Given the description of an element on the screen output the (x, y) to click on. 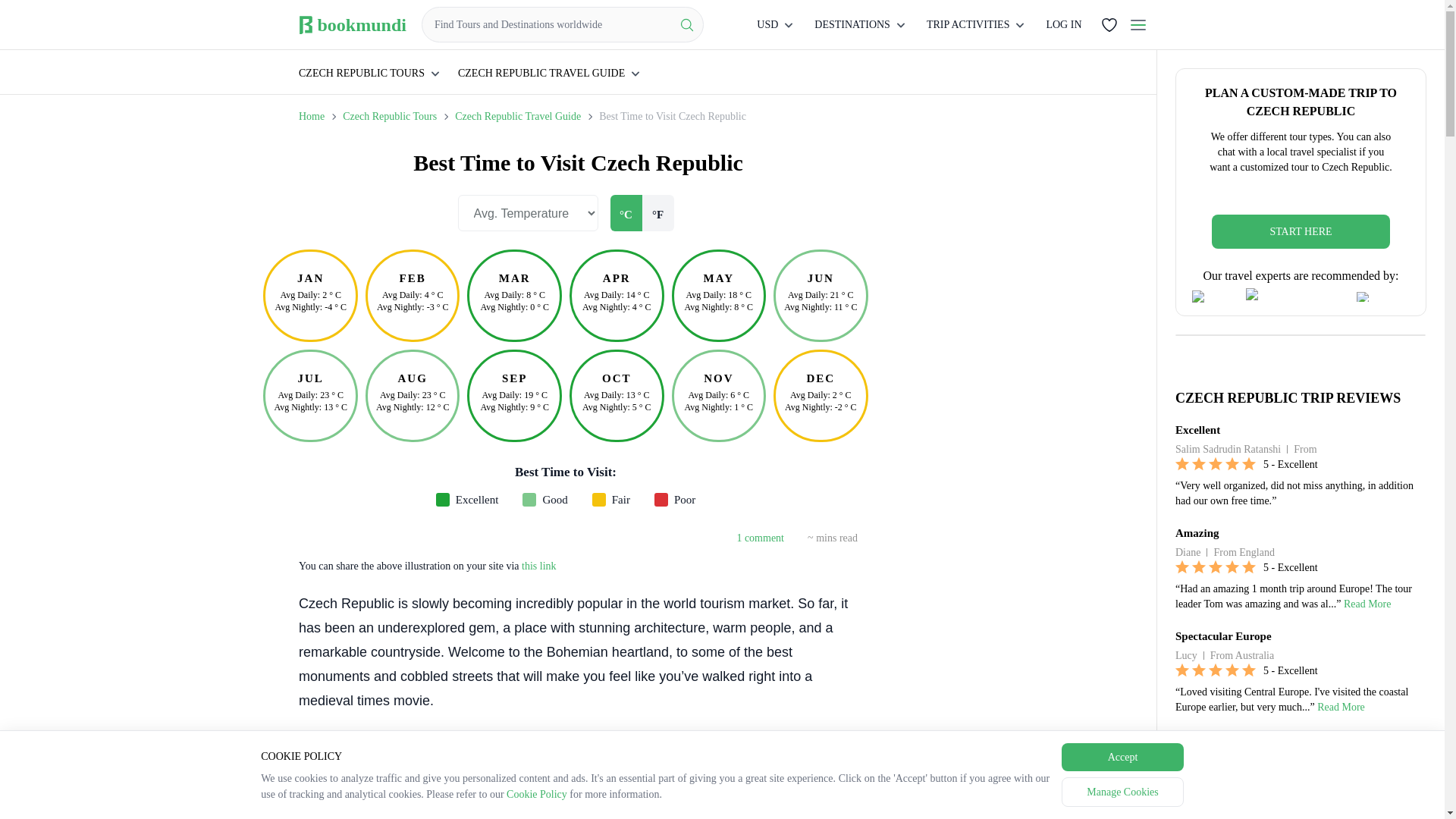
bookmundi (352, 24)
Prague (396, 739)
View Incredible Tours in Czech Republic (1300, 747)
Czech Republic Travel Guide (517, 116)
View Incredible Tours in Czech Republic (1300, 747)
Czech Republic Tours (389, 116)
Home (311, 116)
START HERE (1300, 231)
Prague Tours (396, 739)
Home (311, 116)
